Given the description of an element on the screen output the (x, y) to click on. 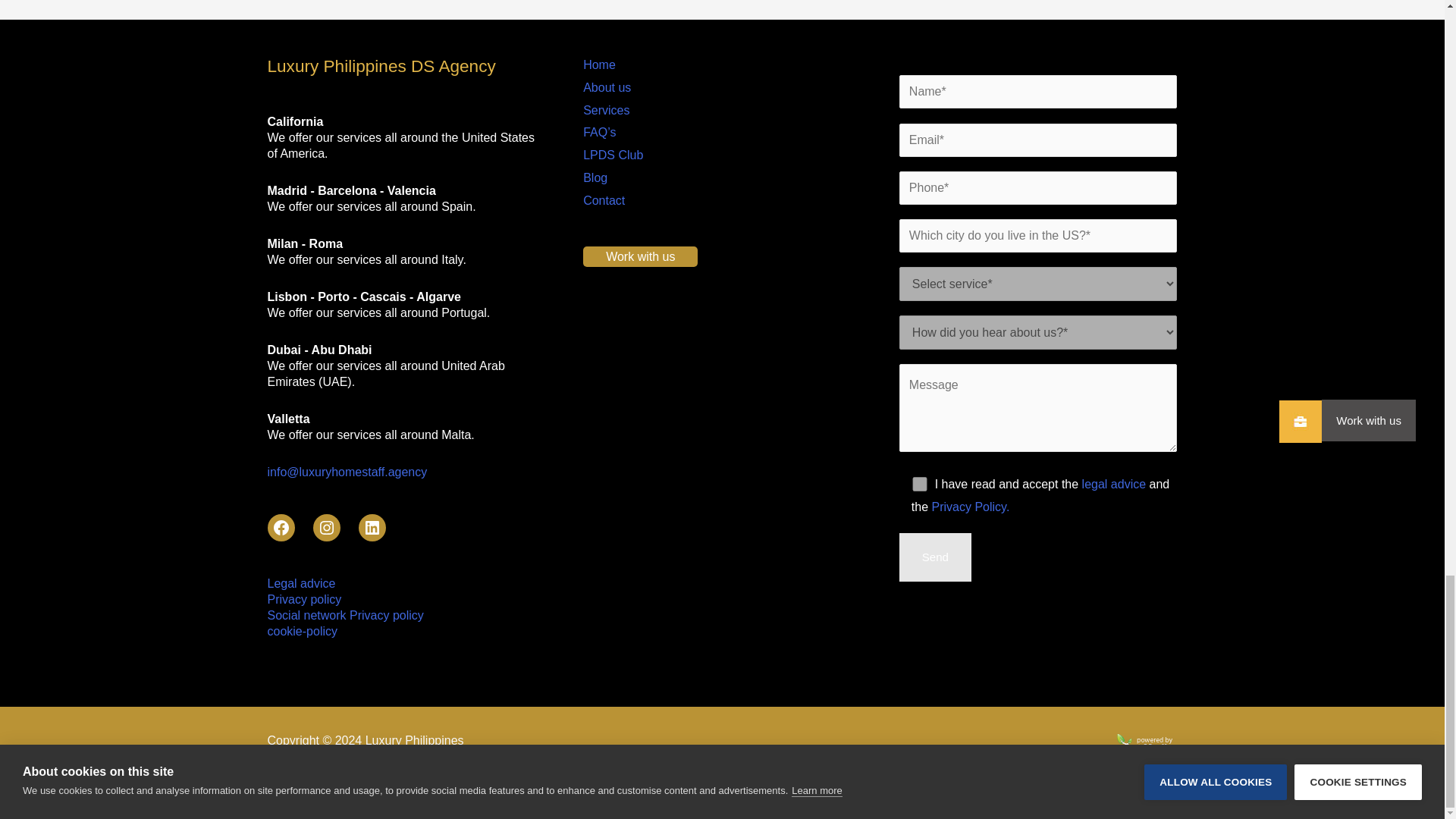
1 (919, 483)
Send (935, 557)
